Given the description of an element on the screen output the (x, y) to click on. 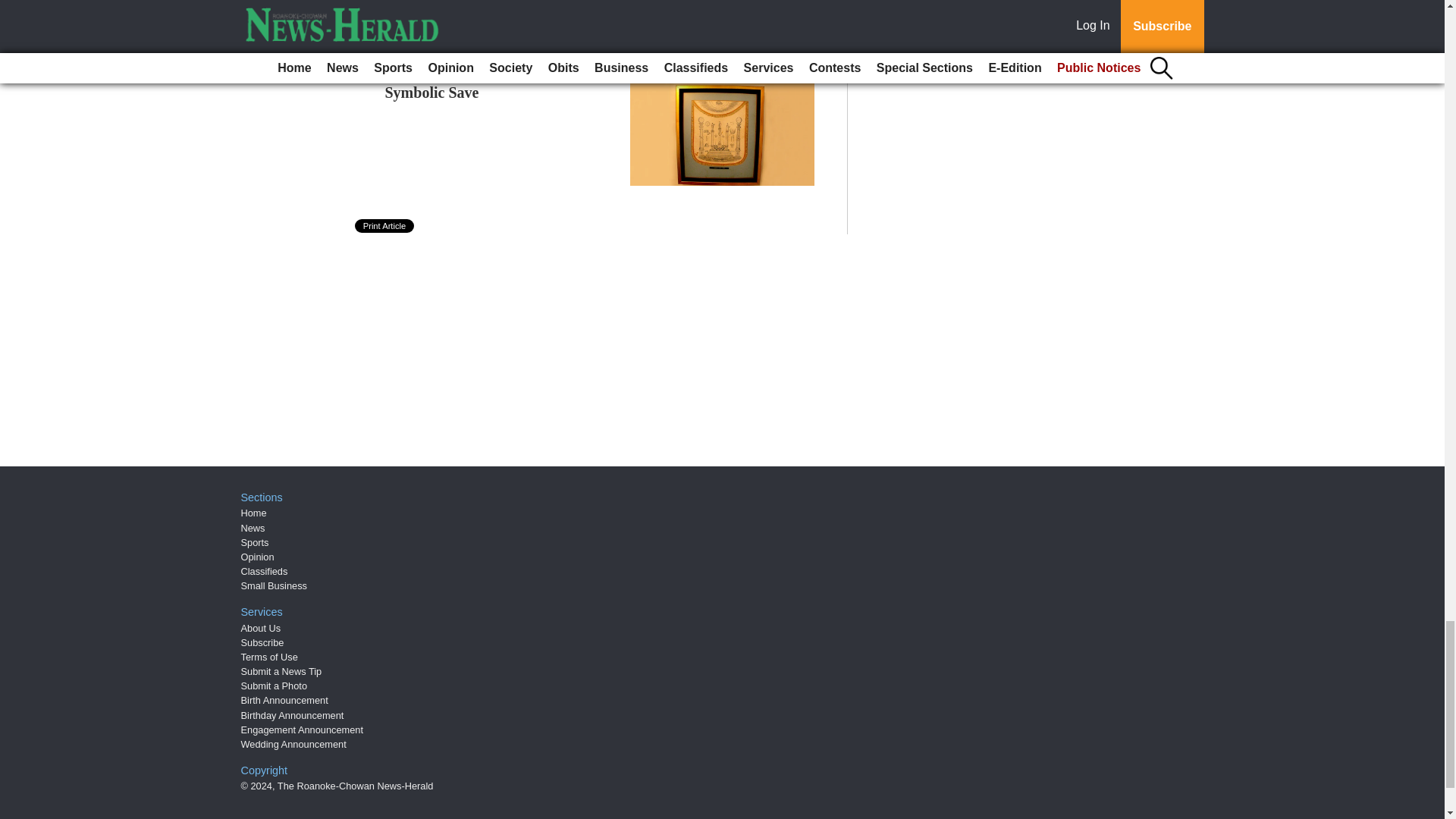
Scott files for District Attorney (485, 40)
Symbolic Save (432, 92)
Scott files for District Attorney (485, 40)
